Given the description of an element on the screen output the (x, y) to click on. 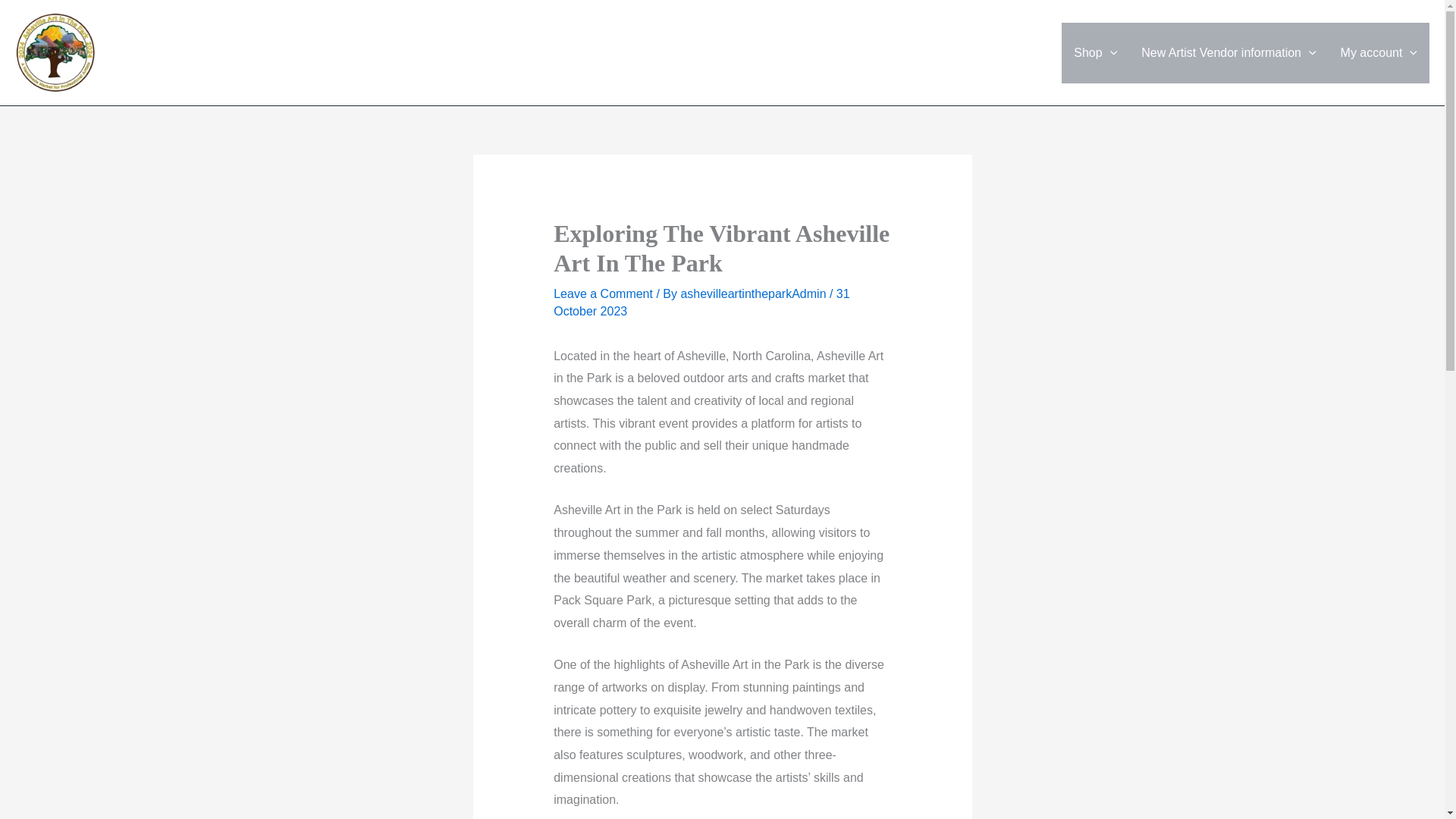
Leave a Comment (602, 293)
Asheville Art In The Park (220, 43)
New Artist Vendor information (1228, 52)
Shop (1095, 52)
My account (1378, 52)
View all posts by ashevilleartintheparkAdmin (754, 293)
ashevilleartintheparkAdmin (754, 293)
